Given the description of an element on the screen output the (x, y) to click on. 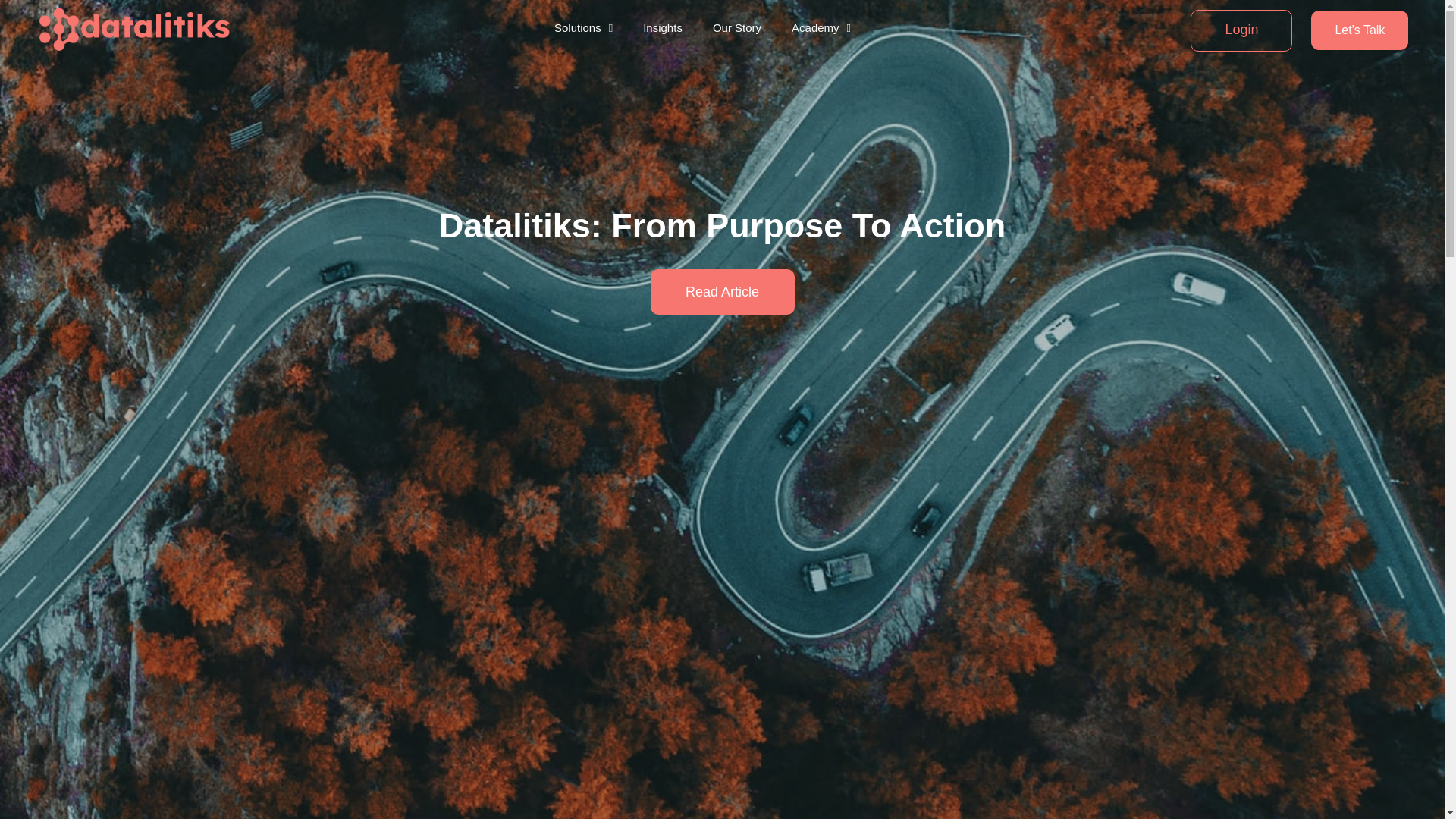
Insights (662, 27)
Solutions (583, 27)
Login (1241, 29)
Academy (821, 27)
Let's Talk (1359, 29)
Read Article (722, 291)
Our Story (737, 27)
